Given the description of an element on the screen output the (x, y) to click on. 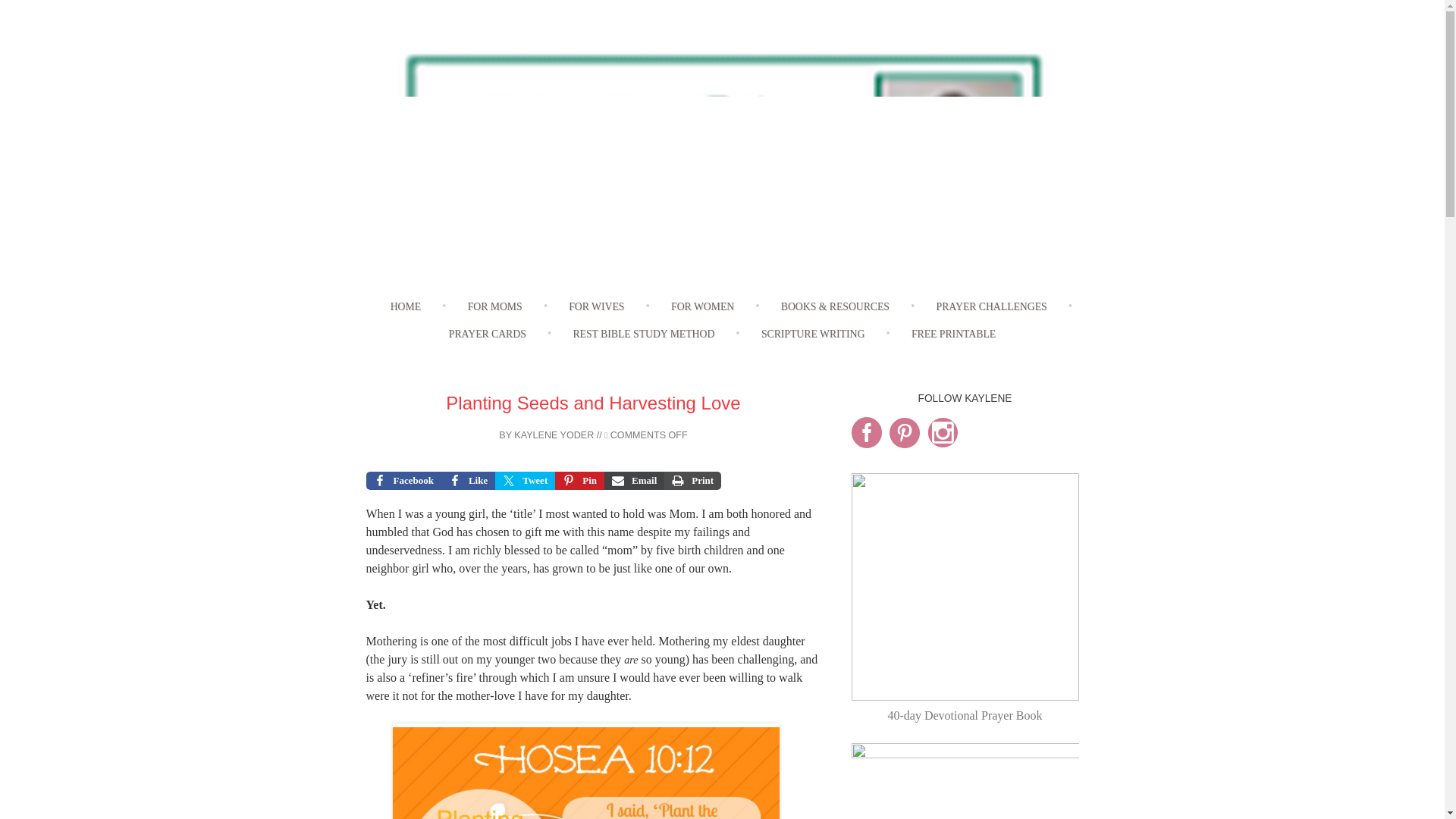
Share on Pinterest (579, 480)
Share on Facebook (403, 480)
View all posts by Kaylene Yoder (553, 434)
HOME (405, 307)
REST BIBLE STUDY METHOD (643, 334)
FOR MOMS (494, 307)
PRAYER CHALLENGES (991, 307)
Share on Twitter (524, 480)
Share via Email (633, 480)
Like on Facebook (468, 480)
